Given the description of an element on the screen output the (x, y) to click on. 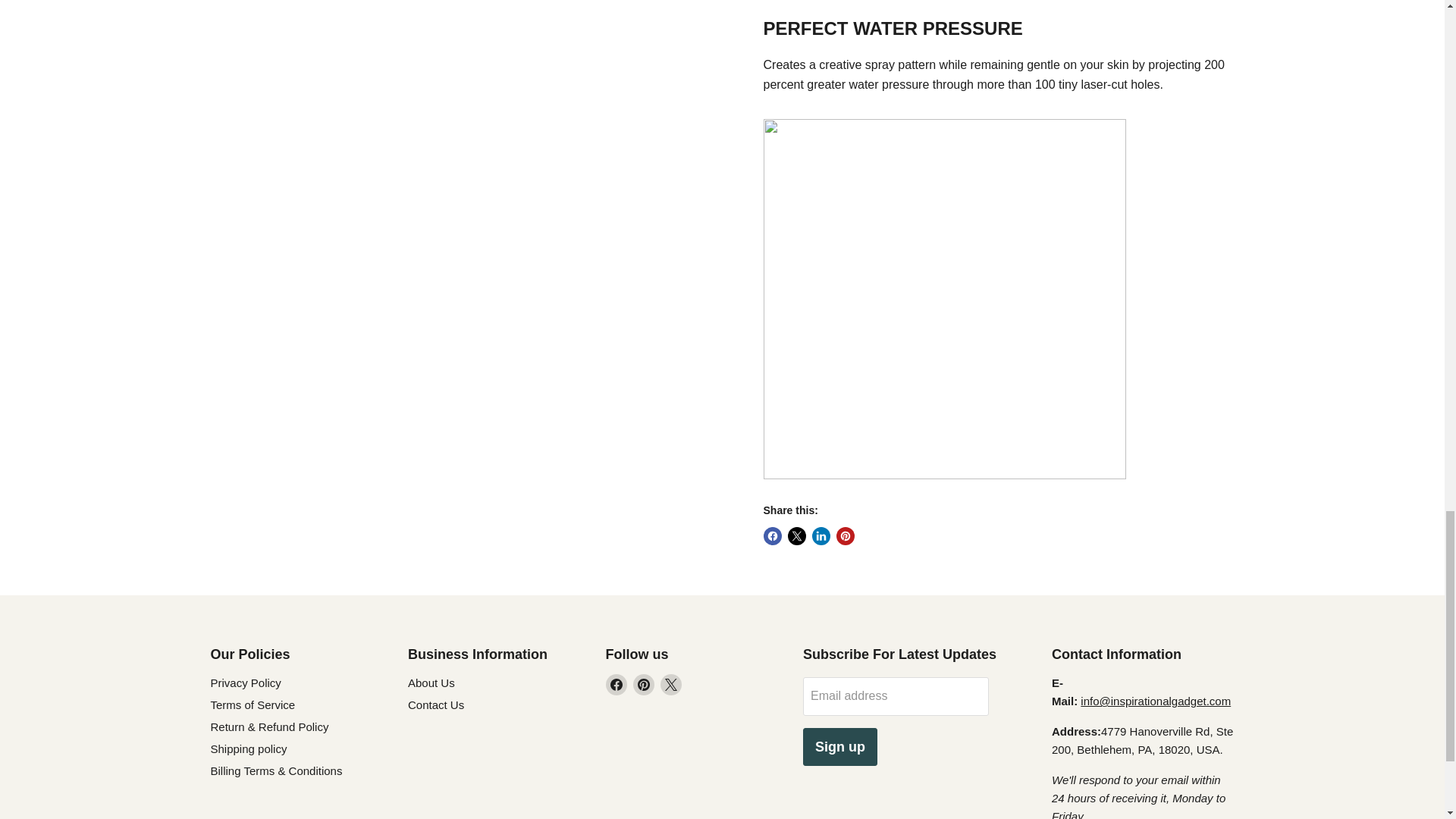
X (670, 684)
Privacy Policy (246, 682)
Share on X (796, 536)
Pin on Pinterest (844, 536)
Terms of Service (253, 704)
Share on Facebook (771, 536)
Share on LinkedIn (819, 536)
Facebook (615, 684)
Pinterest (642, 684)
